Given the description of an element on the screen output the (x, y) to click on. 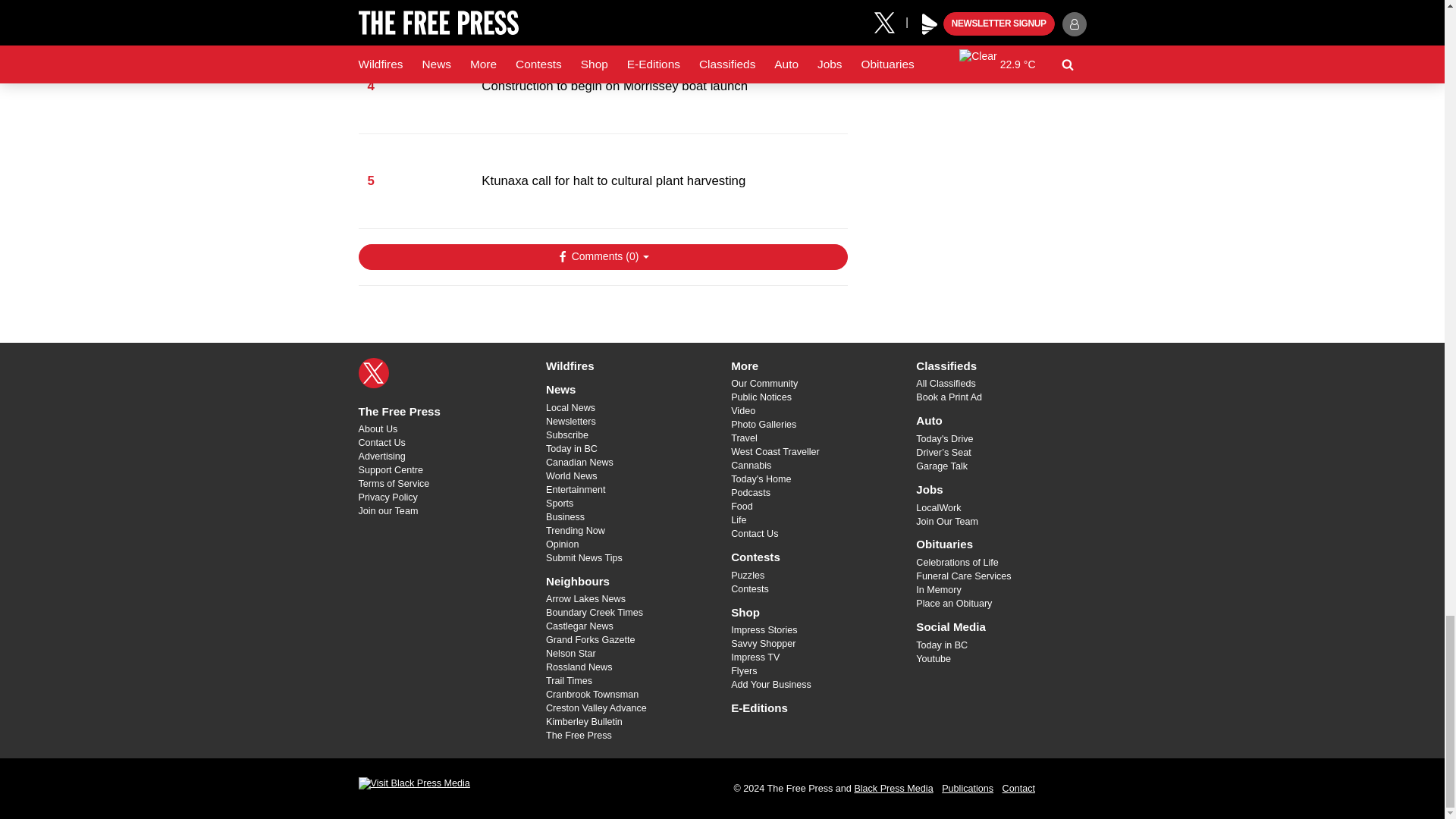
Show Comments (602, 257)
X (373, 372)
